Given the description of an element on the screen output the (x, y) to click on. 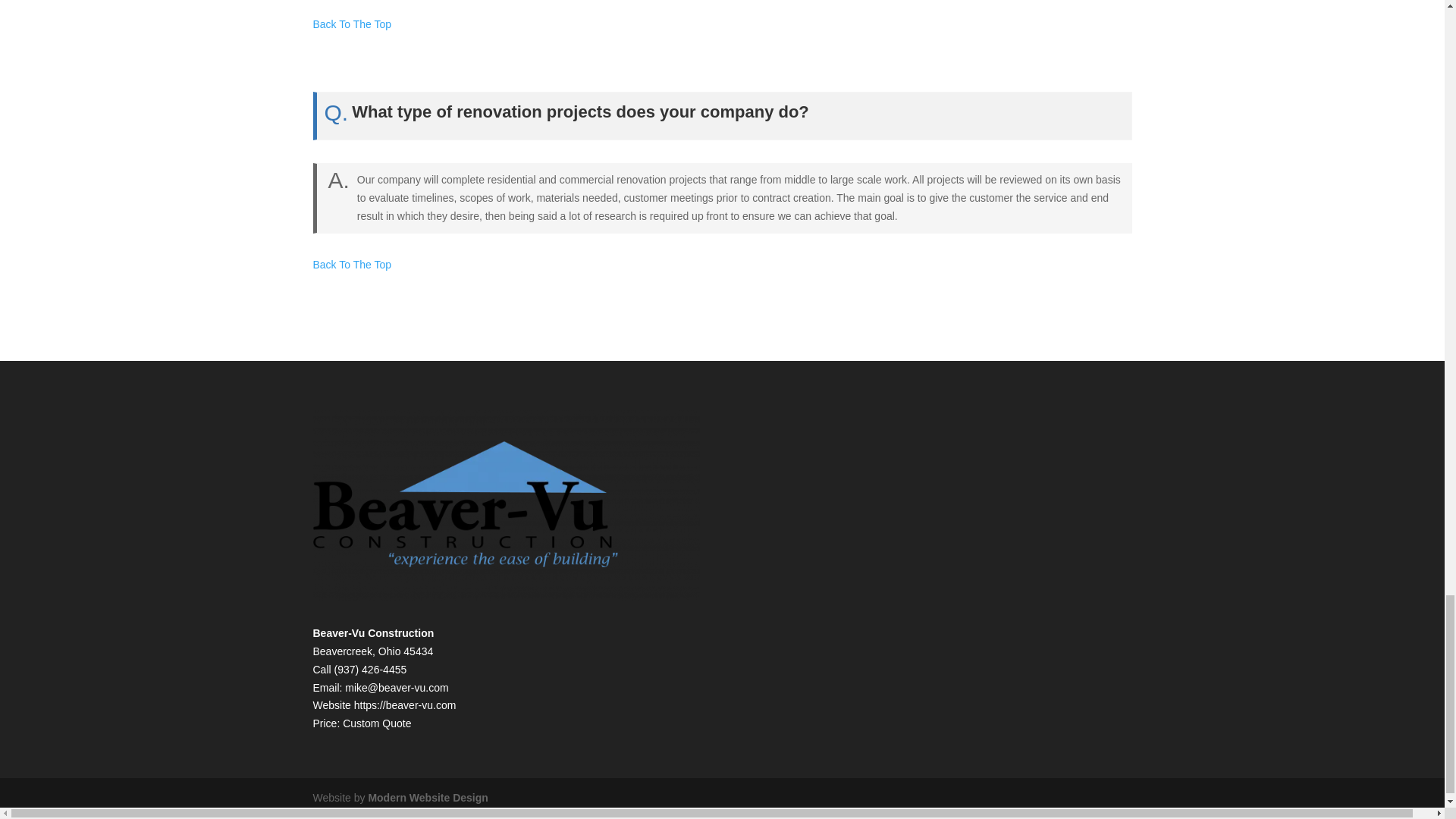
Modern Website Design (427, 797)
Back To The Top (352, 24)
Back To The Top (352, 264)
